Given the description of an element on the screen output the (x, y) to click on. 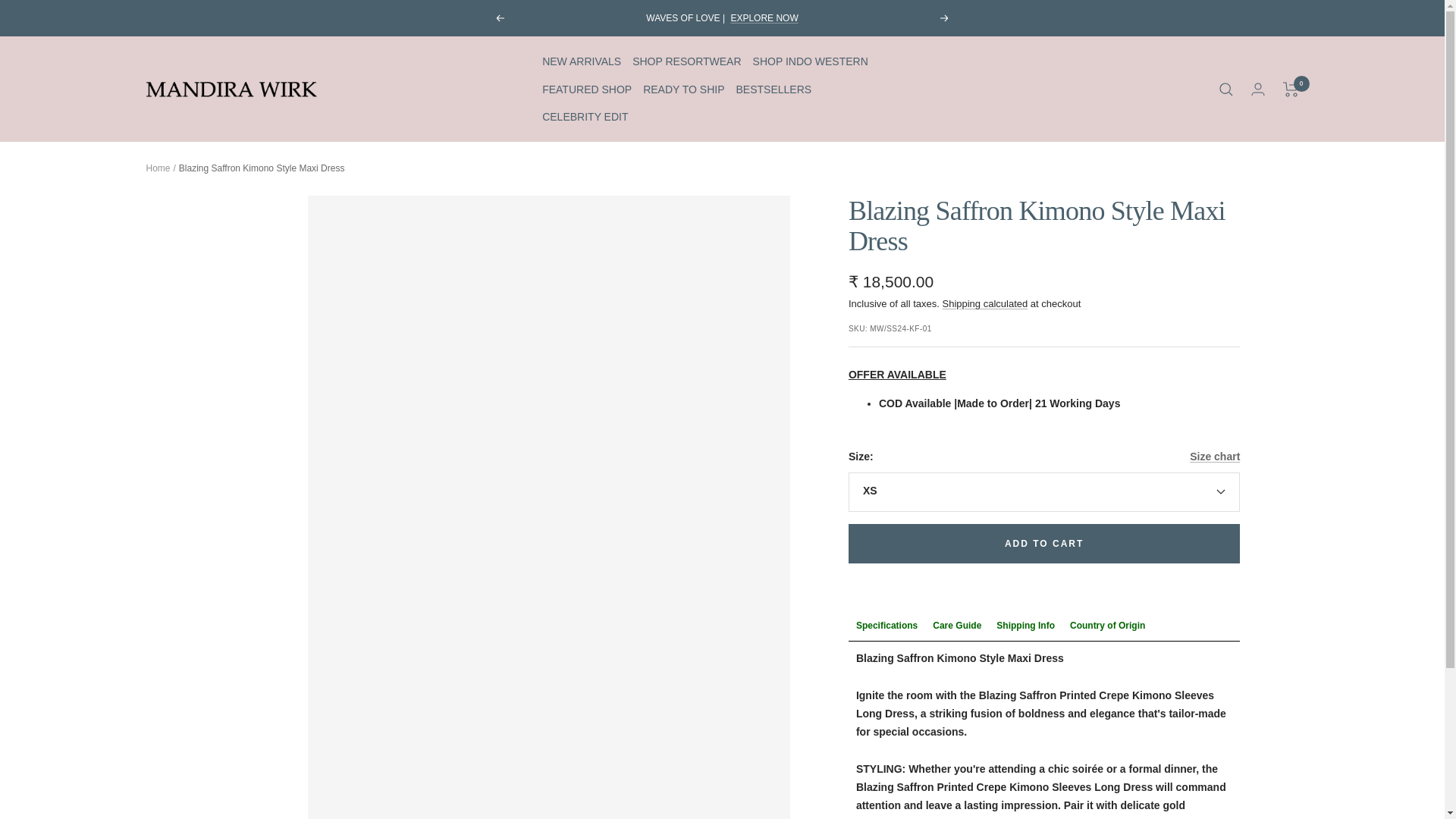
BESTSELLERS (774, 89)
EXPLORE NOW (763, 18)
0 (1290, 89)
CELEBRITY EDIT (584, 116)
SHOP INDO WESTERN (809, 61)
Previous (499, 18)
READY TO SHIP (683, 89)
Next (944, 18)
Mandira Wirk (230, 89)
FEATURED SHOP (586, 89)
